Given the description of an element on the screen output the (x, y) to click on. 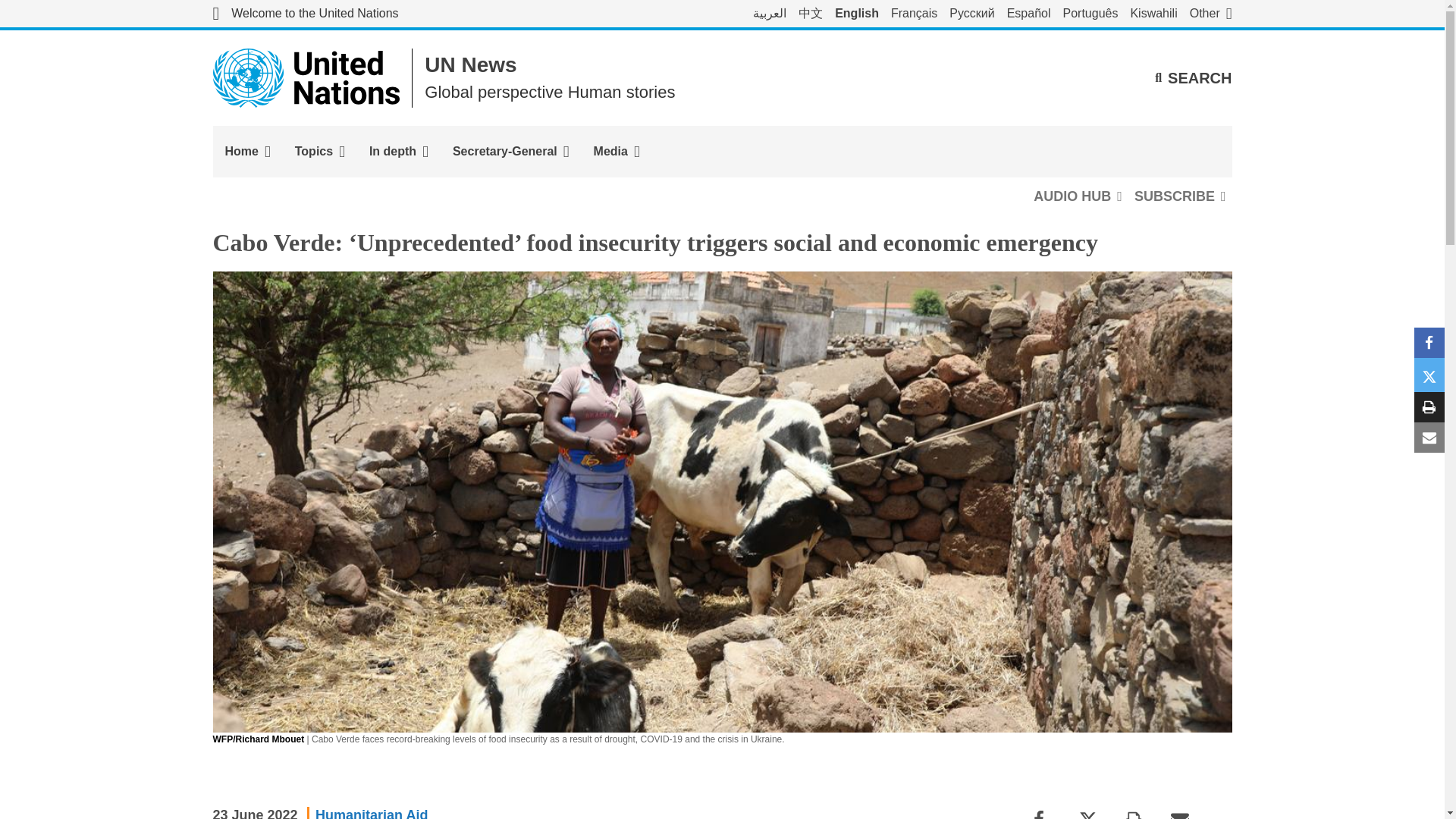
English (856, 13)
UN News (470, 64)
SEARCH (1192, 77)
Welcome to the United Nations (304, 13)
United Nations (304, 13)
Home (247, 151)
Other (1210, 13)
Home (247, 151)
Kiswahili (1152, 13)
United Nations (305, 76)
Topics (319, 151)
UN News (470, 64)
